Given the description of an element on the screen output the (x, y) to click on. 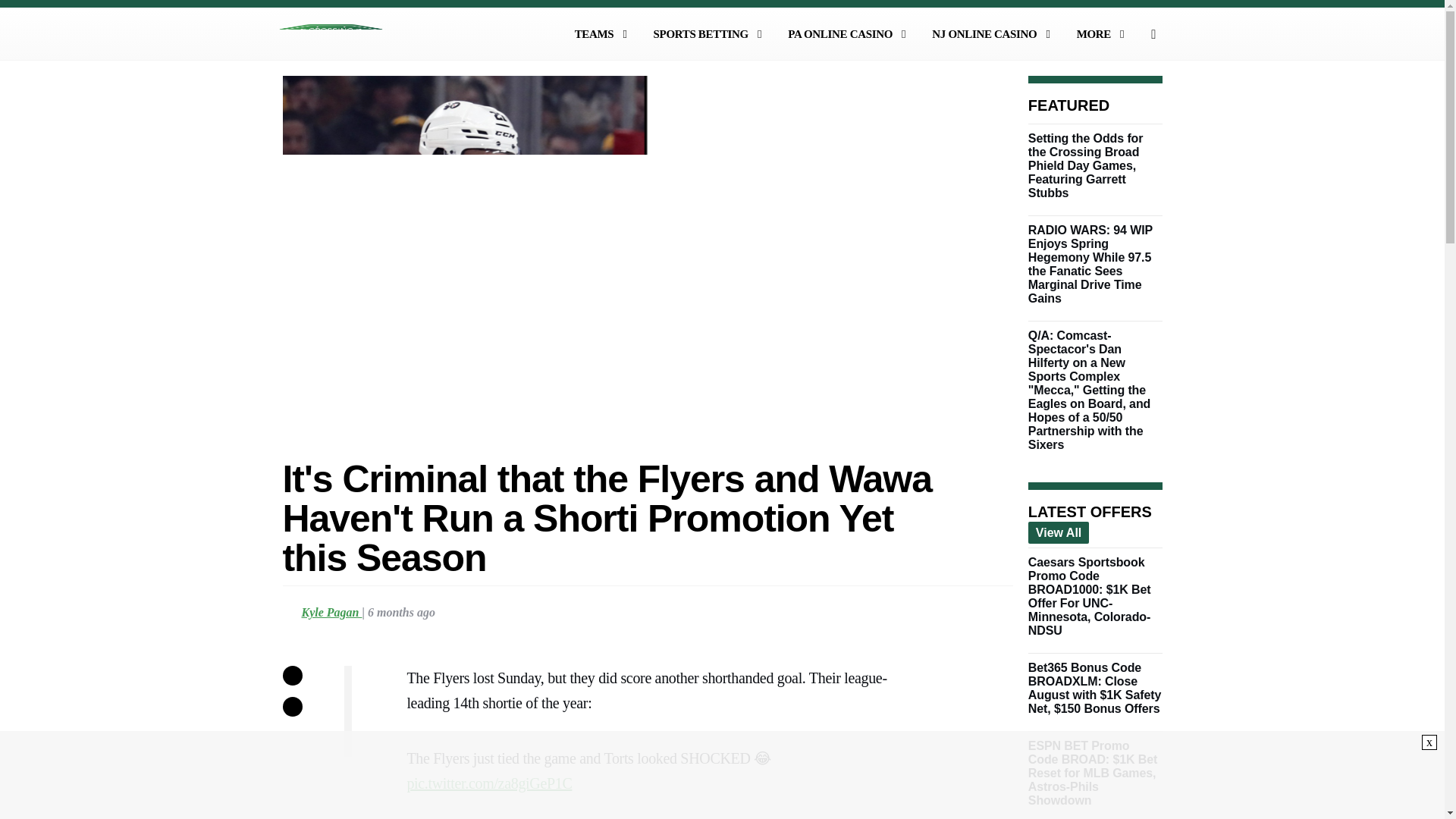
TEAMS (603, 33)
NJ ONLINE CASINO (992, 33)
a list of pa online casinos (849, 33)
PA ONLINE CASINO (849, 33)
sports betting (710, 33)
SPORTS BETTING (710, 33)
